Given the description of an element on the screen output the (x, y) to click on. 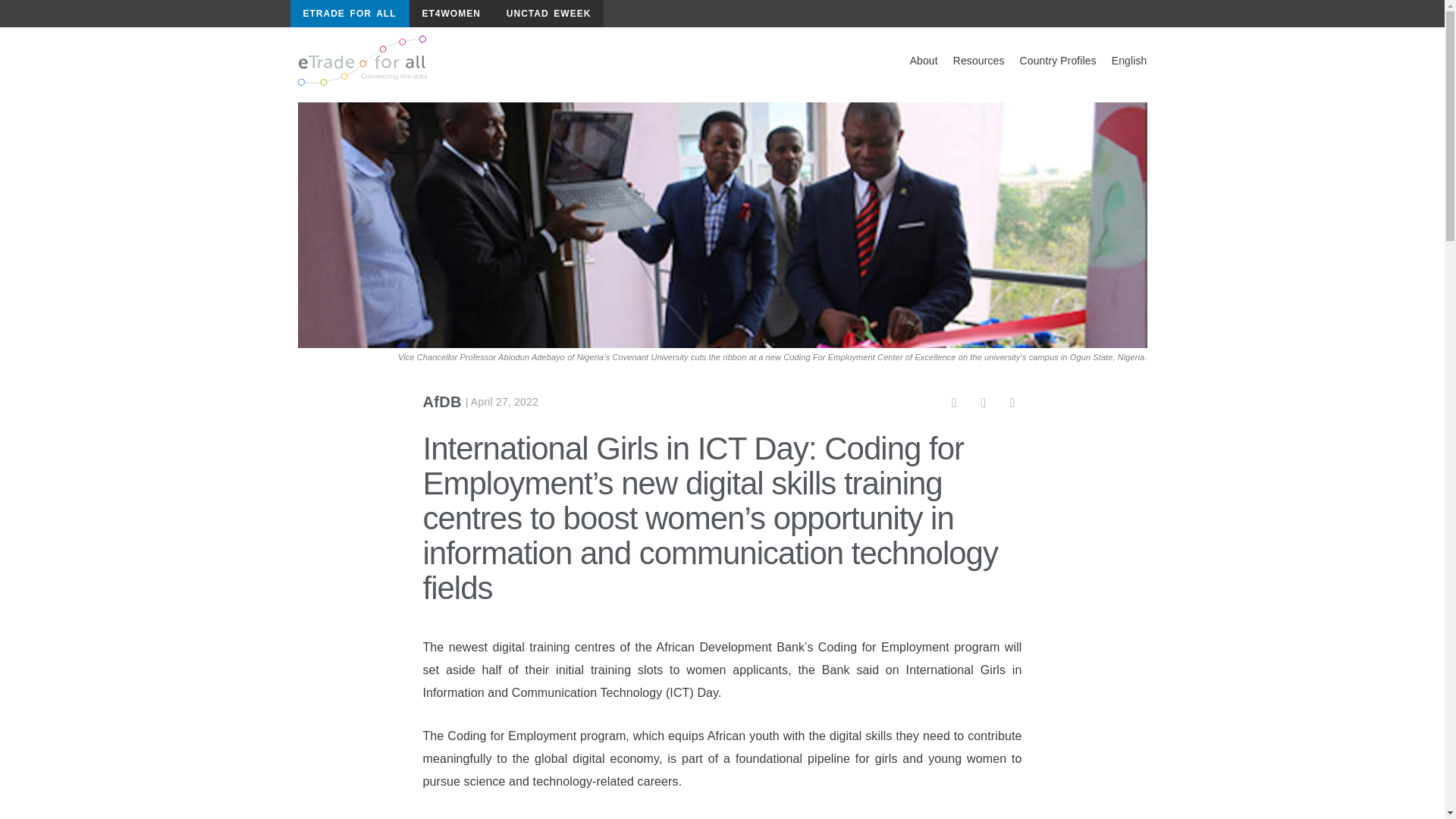
English (1128, 60)
Country Profiles (1057, 60)
About (923, 60)
Resources (977, 60)
ETRADE FOR ALL (349, 13)
English (1128, 60)
ET4WOMEN (451, 13)
UNCTAD EWEEK (548, 13)
